Given the description of an element on the screen output the (x, y) to click on. 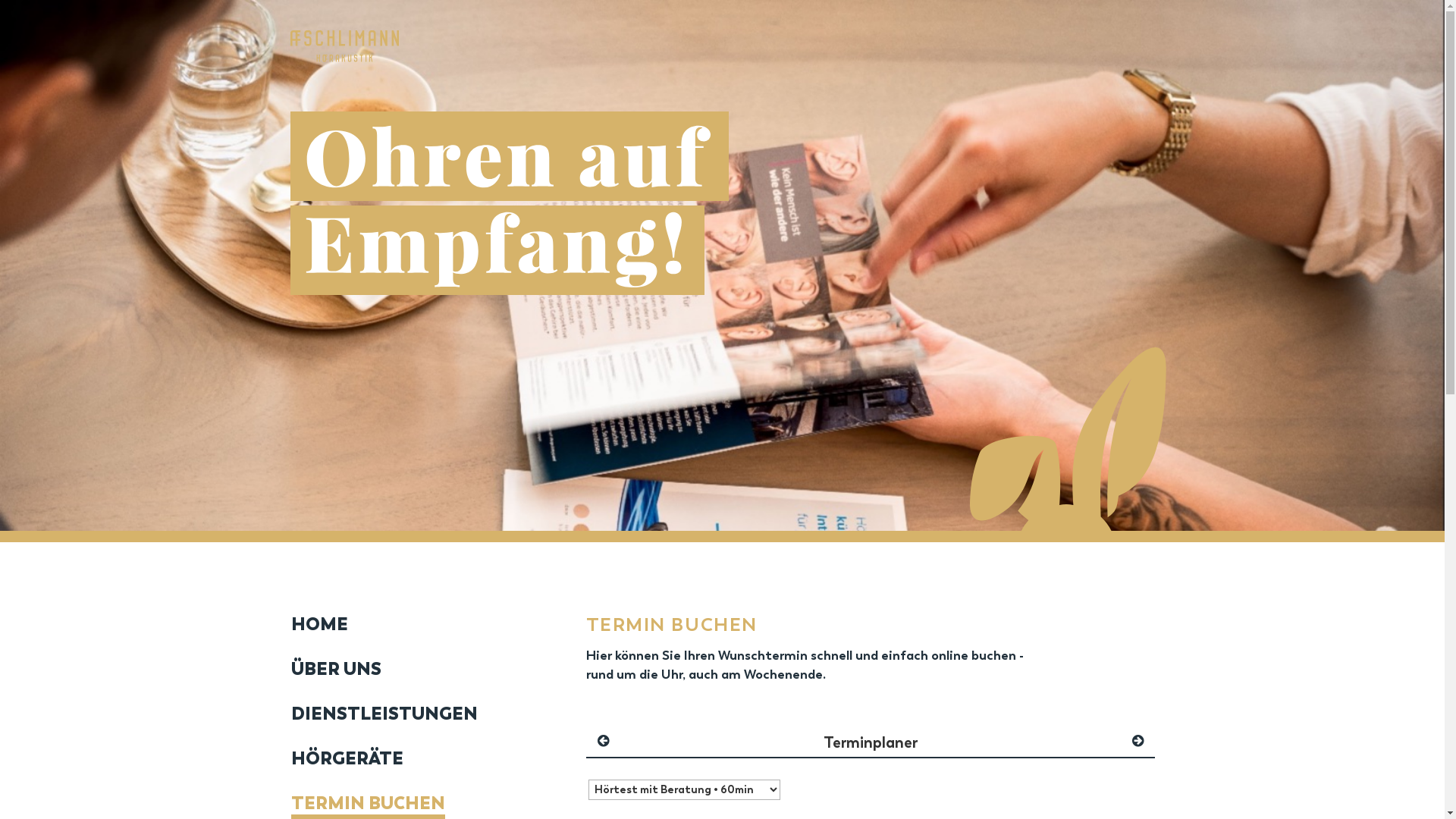
DIENSTLEISTUNGEN Element type: text (383, 713)
HOME Element type: text (383, 630)
